Given the description of an element on the screen output the (x, y) to click on. 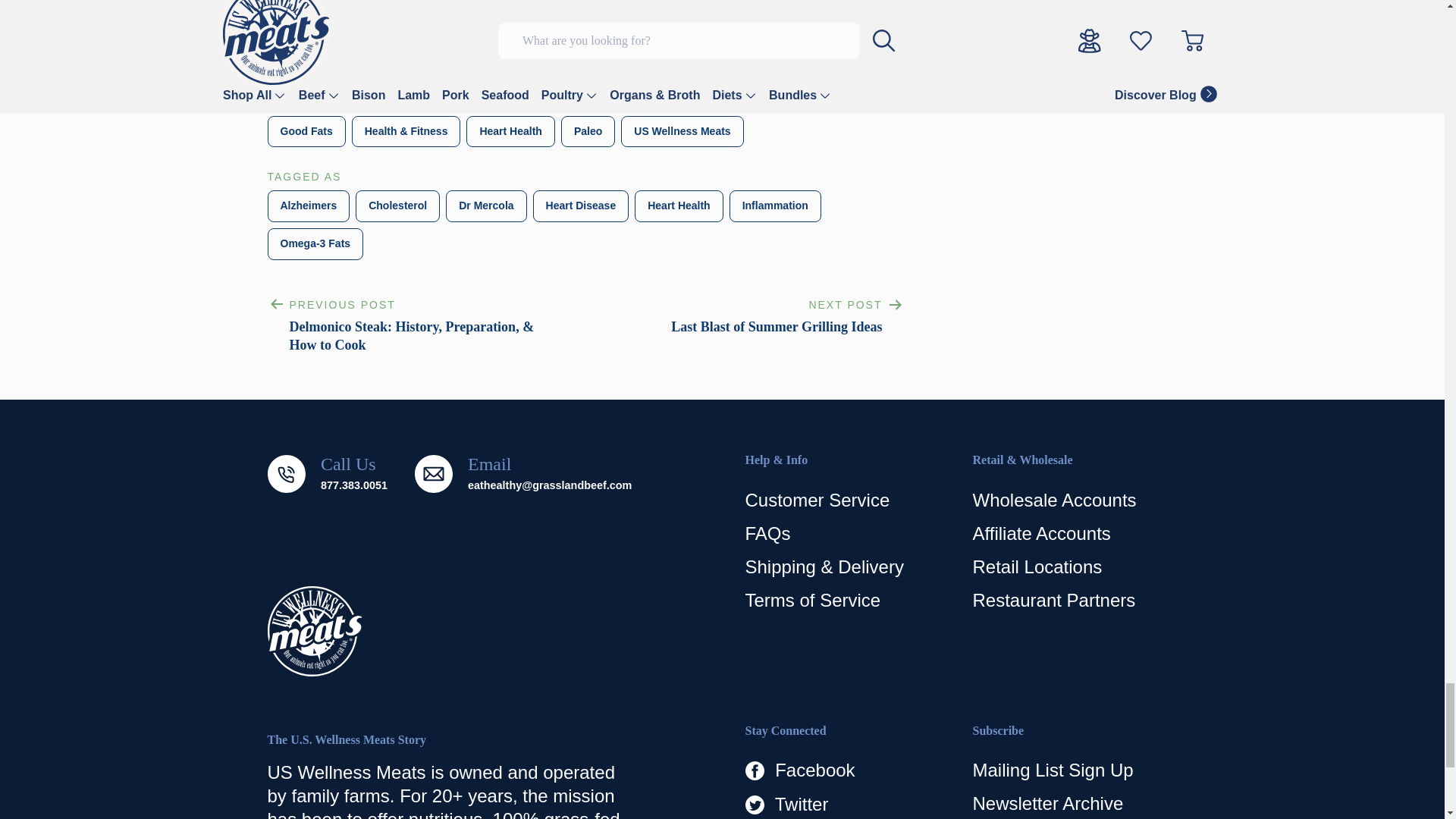
Call Icon (285, 474)
Twitter Icon (753, 804)
Email Icon (433, 474)
Facebook Icon (753, 770)
USWM Logo (313, 631)
